Given the description of an element on the screen output the (x, y) to click on. 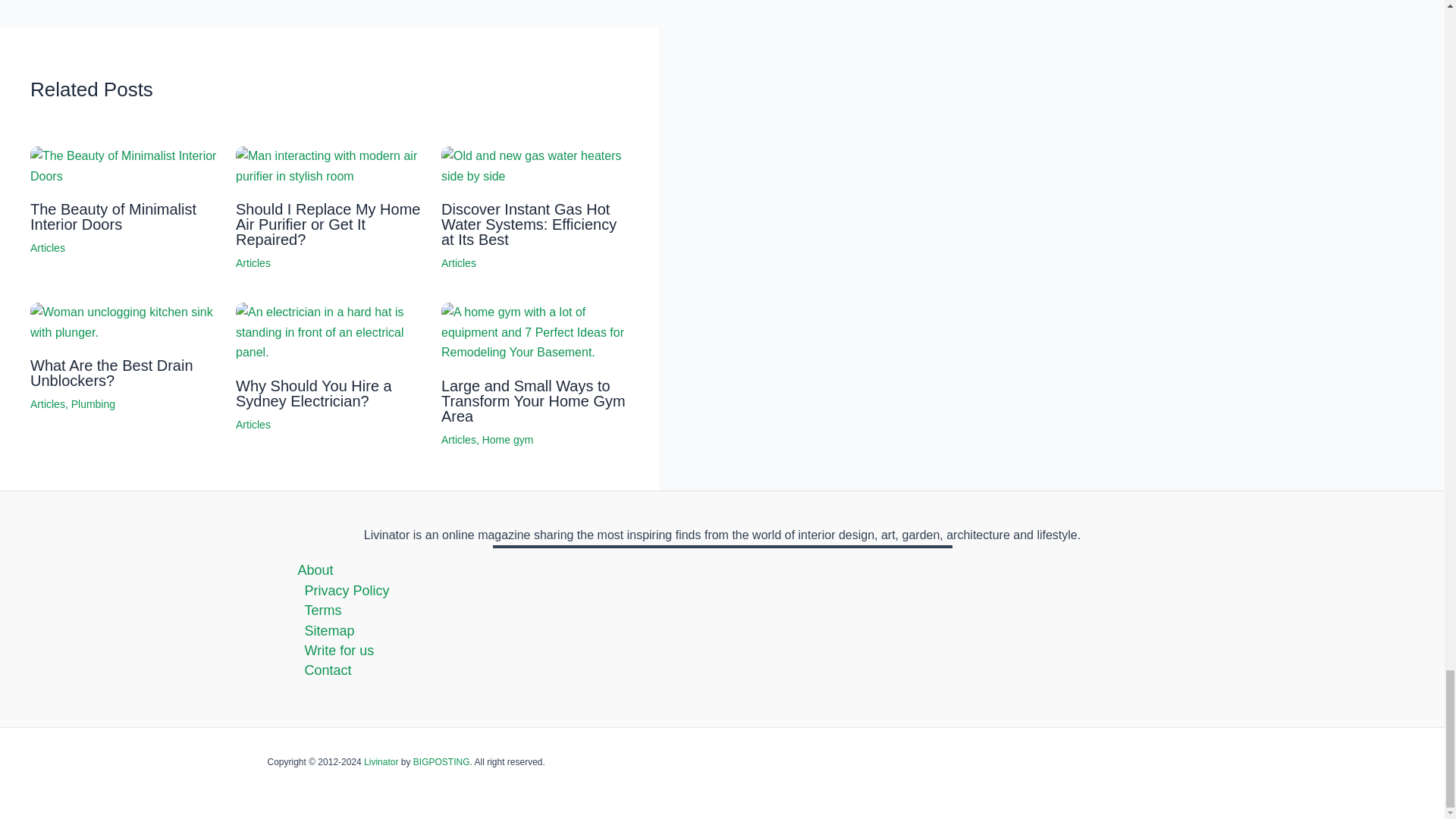
BIGPOSTING (441, 761)
